Given the description of an element on the screen output the (x, y) to click on. 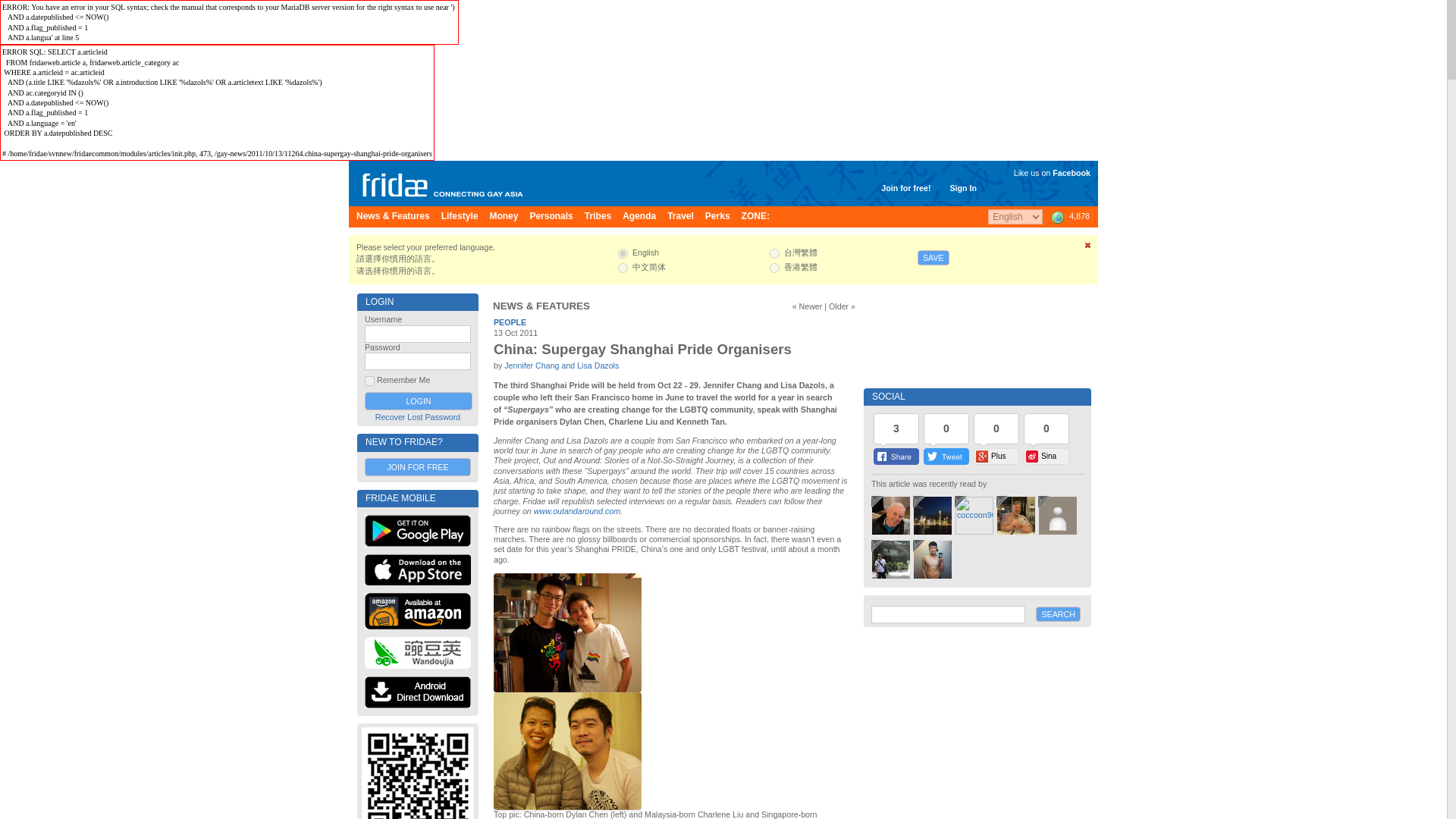
Join for free! (905, 187)
4,878 (1069, 216)
Money (503, 216)
Sign In (962, 187)
sc (622, 267)
ZONE: (755, 216)
JOIN FOR FREE (417, 466)
1 (369, 380)
Travel (680, 216)
Personals (550, 216)
